Given the description of an element on the screen output the (x, y) to click on. 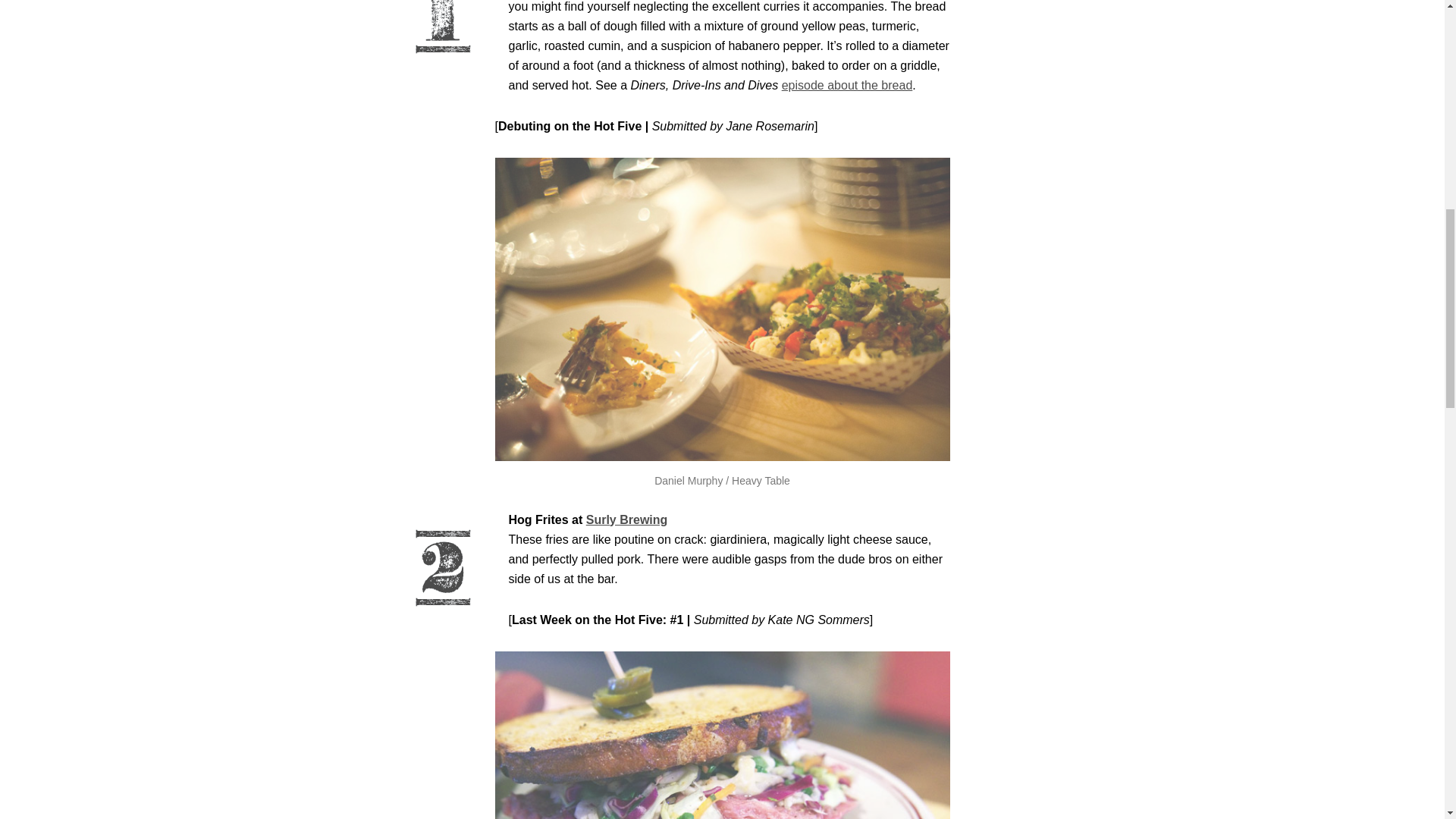
episode about the bread (846, 84)
Surly Brewing (627, 519)
